Given the description of an element on the screen output the (x, y) to click on. 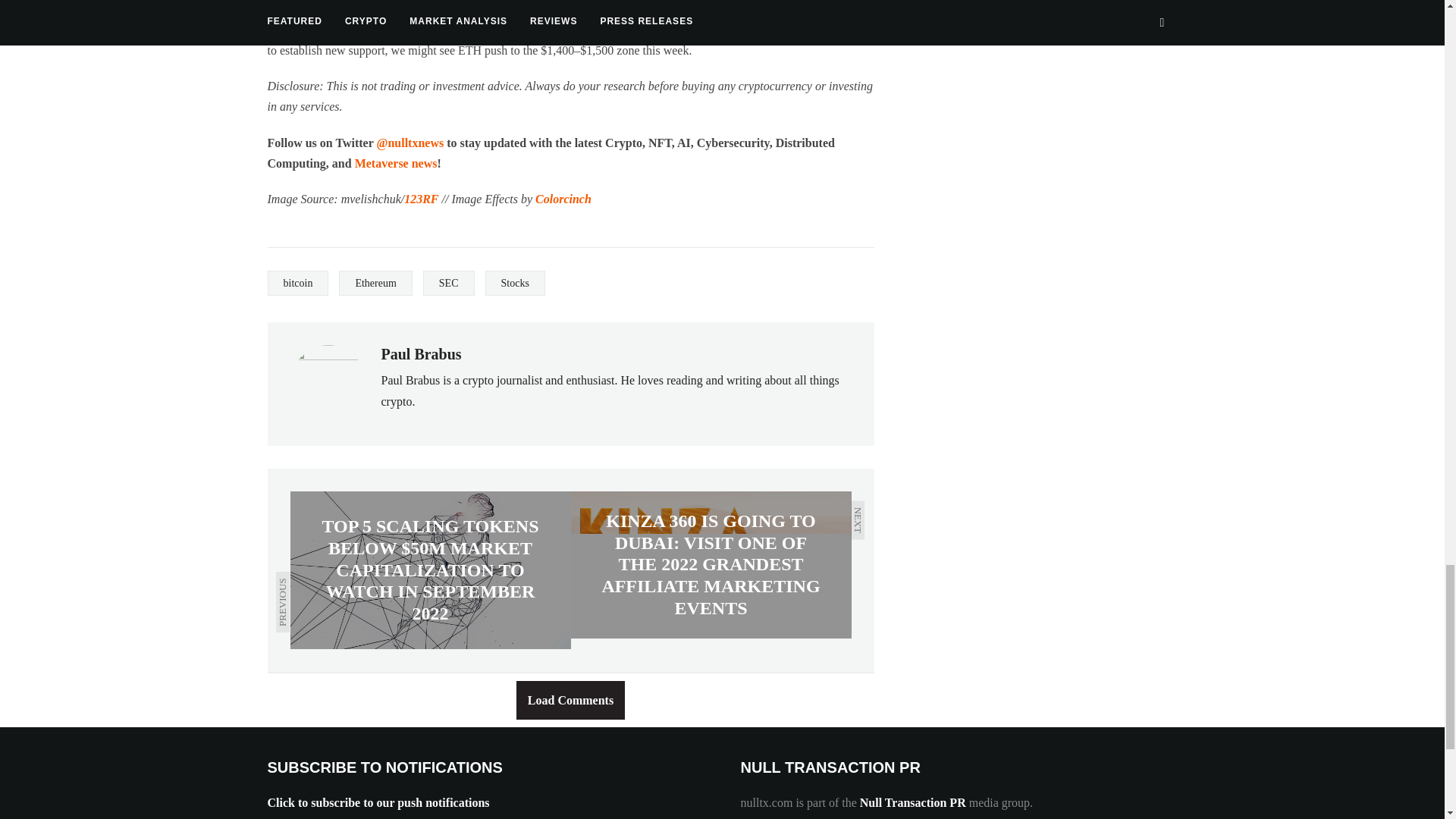
Posts by Paul Brabus (420, 353)
Ethereum (375, 283)
Paul Brabus (420, 353)
bitcoin (297, 283)
Colorcinch (563, 198)
123RF (421, 198)
Metaverse news (396, 163)
Stocks (514, 283)
SEC (448, 283)
